Given the description of an element on the screen output the (x, y) to click on. 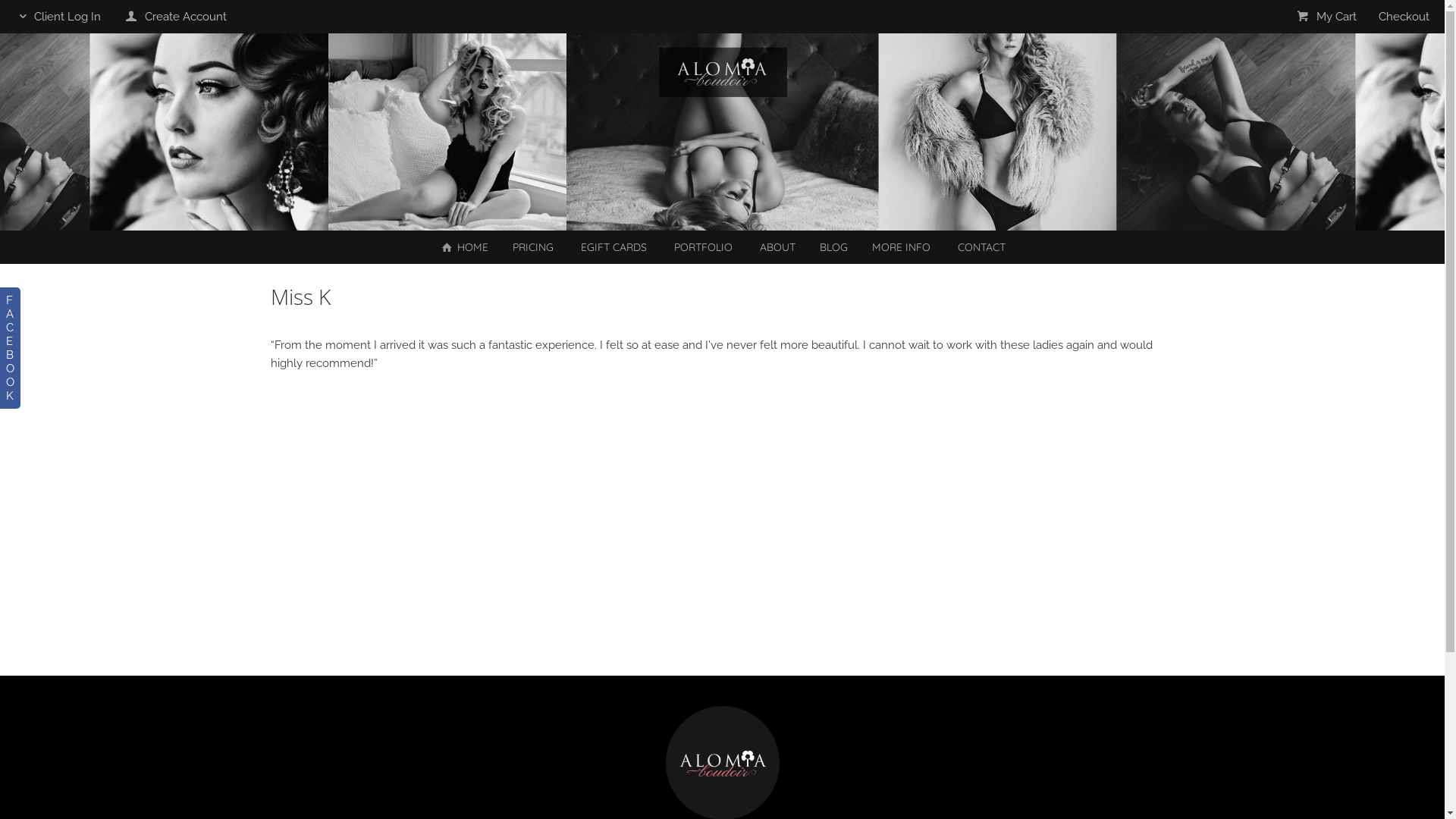
 HOME Element type: text (463, 247)
EGIFT CARDS Element type: text (613, 247)
CONTACT Element type: text (981, 247)
PORTFOLIO Element type: text (703, 247)
  Create Account Element type: text (174, 16)
Checkout Element type: text (1403, 16)
 Client Log In Element type: text (57, 16)
MORE INFO Element type: text (900, 247)
ABOUT Element type: text (777, 247)
PRICING Element type: text (532, 247)
  My Cart Element type: text (1326, 16)
BLOG Element type: text (833, 247)
